Given the description of an element on the screen output the (x, y) to click on. 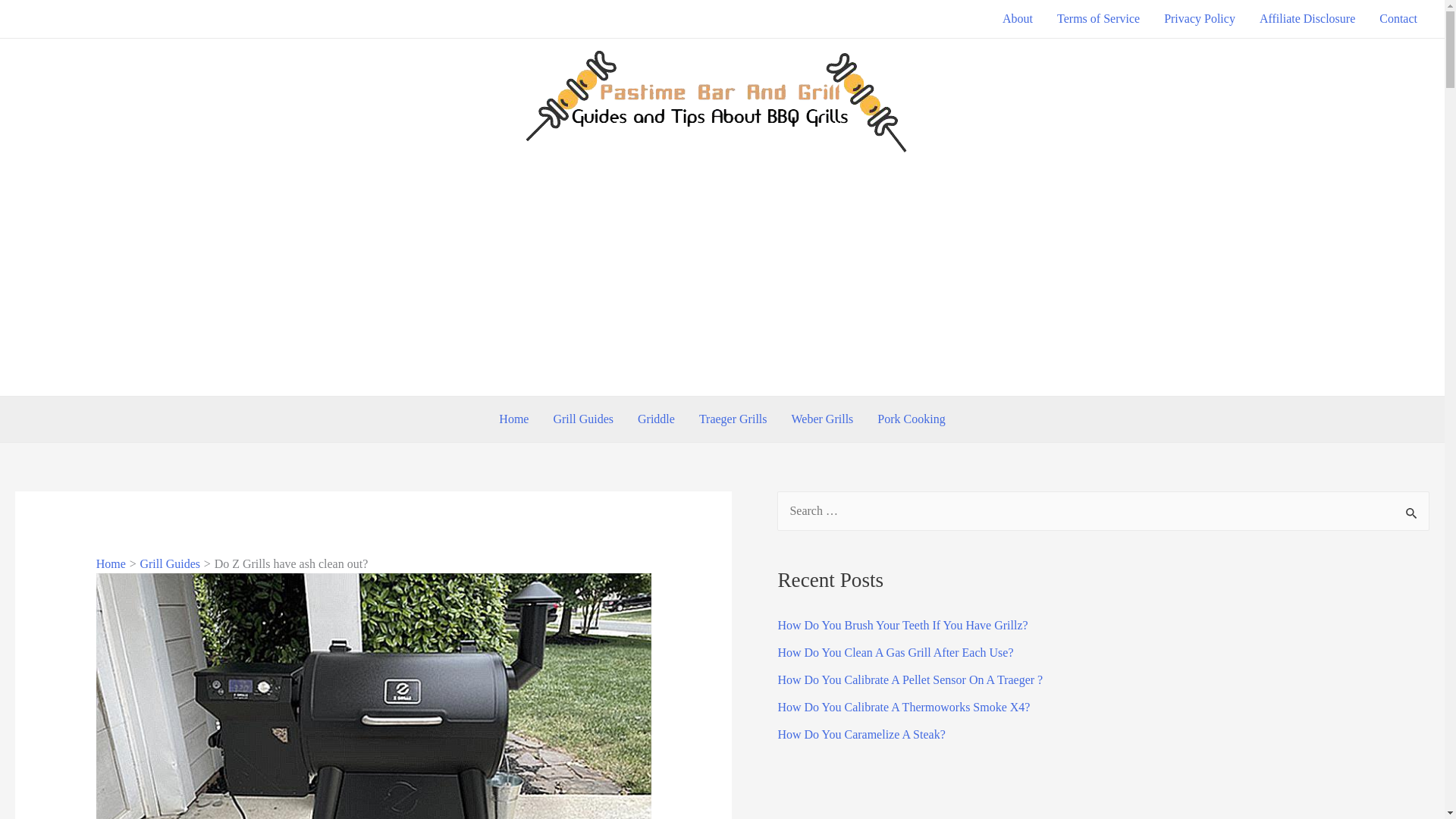
Traeger Grills (732, 419)
Grill Guides (583, 419)
Privacy Policy (1199, 18)
Griddle (656, 419)
Grill Guides (169, 563)
Contact (1398, 18)
Terms of Service (1098, 18)
About (1017, 18)
Weber Grills (822, 419)
